Given the description of an element on the screen output the (x, y) to click on. 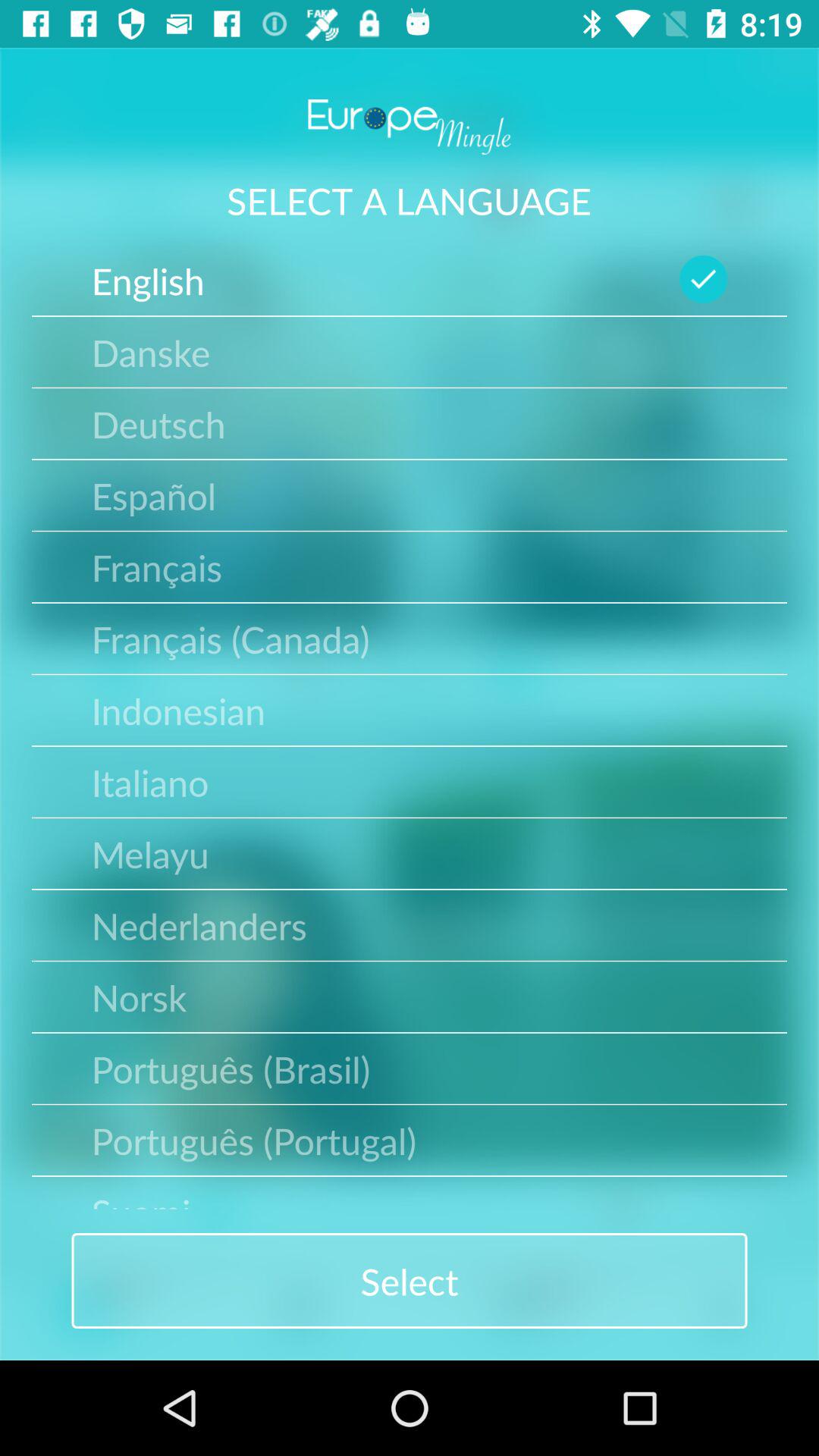
click on europe mingle (409, 127)
tap on the button named as select (409, 1281)
